Given the description of an element on the screen output the (x, y) to click on. 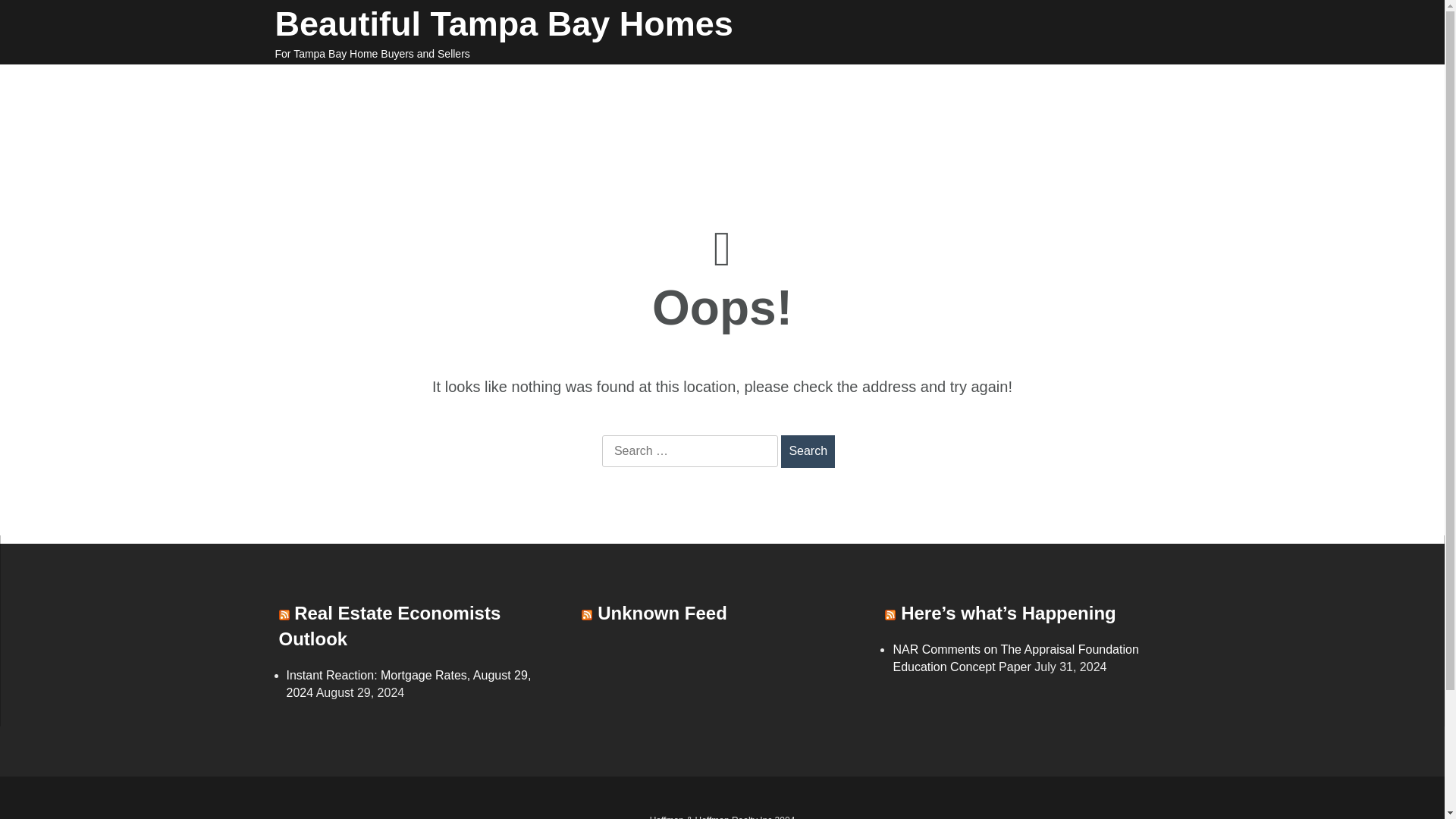
Meet the Hoffman Team (1012, 84)
Search (807, 450)
Real Estate Economists Outlook (389, 625)
Welcome to Tampa Bay (349, 84)
Testimonials (483, 105)
Mortgage Calculator (842, 84)
Curb Appeal (481, 84)
Unknown Feed (661, 612)
Staging Your Home (601, 84)
Search (807, 450)
